Given the description of an element on the screen output the (x, y) to click on. 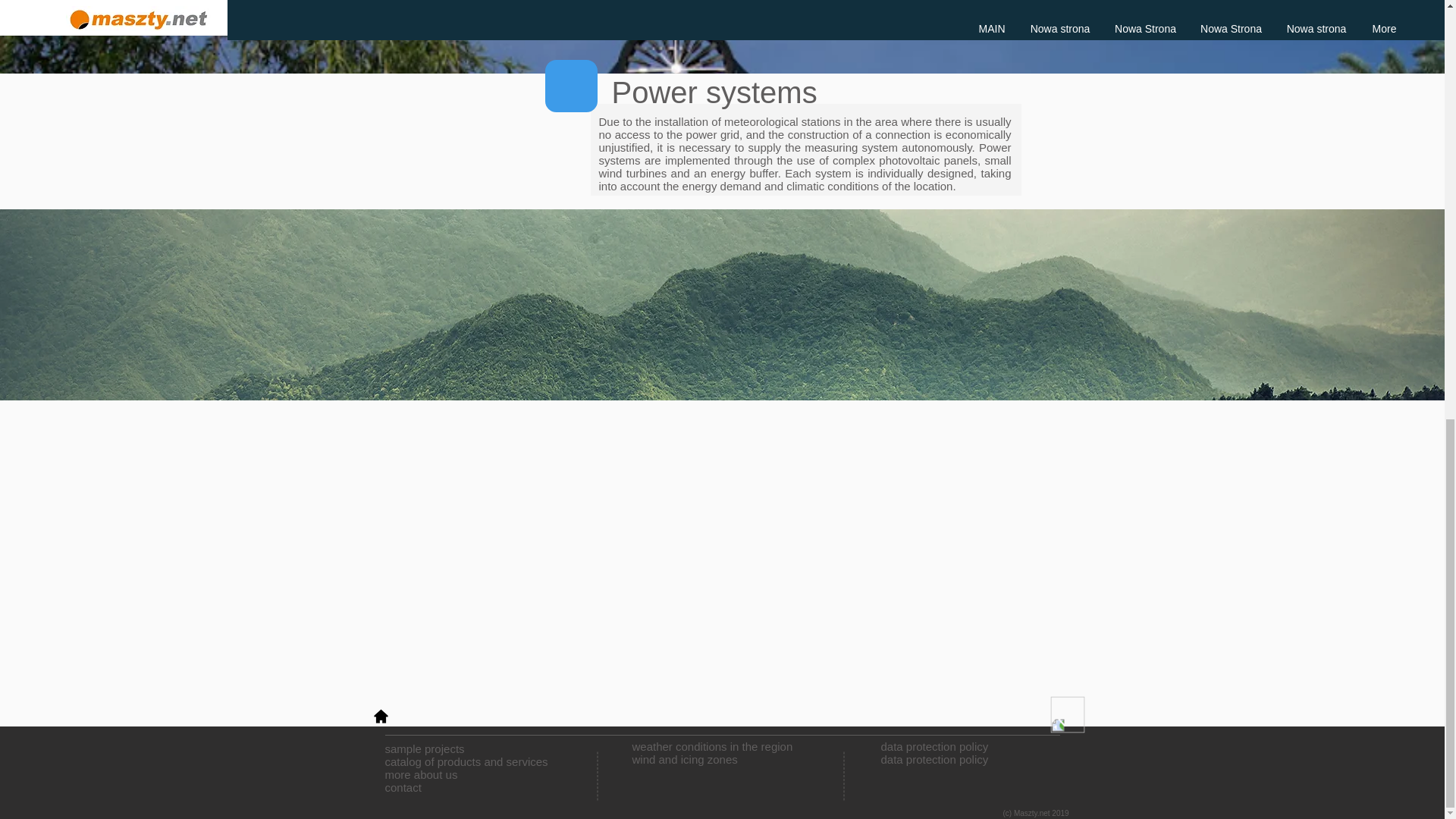
weather conditions in the region (712, 746)
more about us (421, 774)
sample projects (934, 752)
wind and icing zones (424, 748)
contact (684, 758)
catalog of products and services (403, 787)
